Given the description of an element on the screen output the (x, y) to click on. 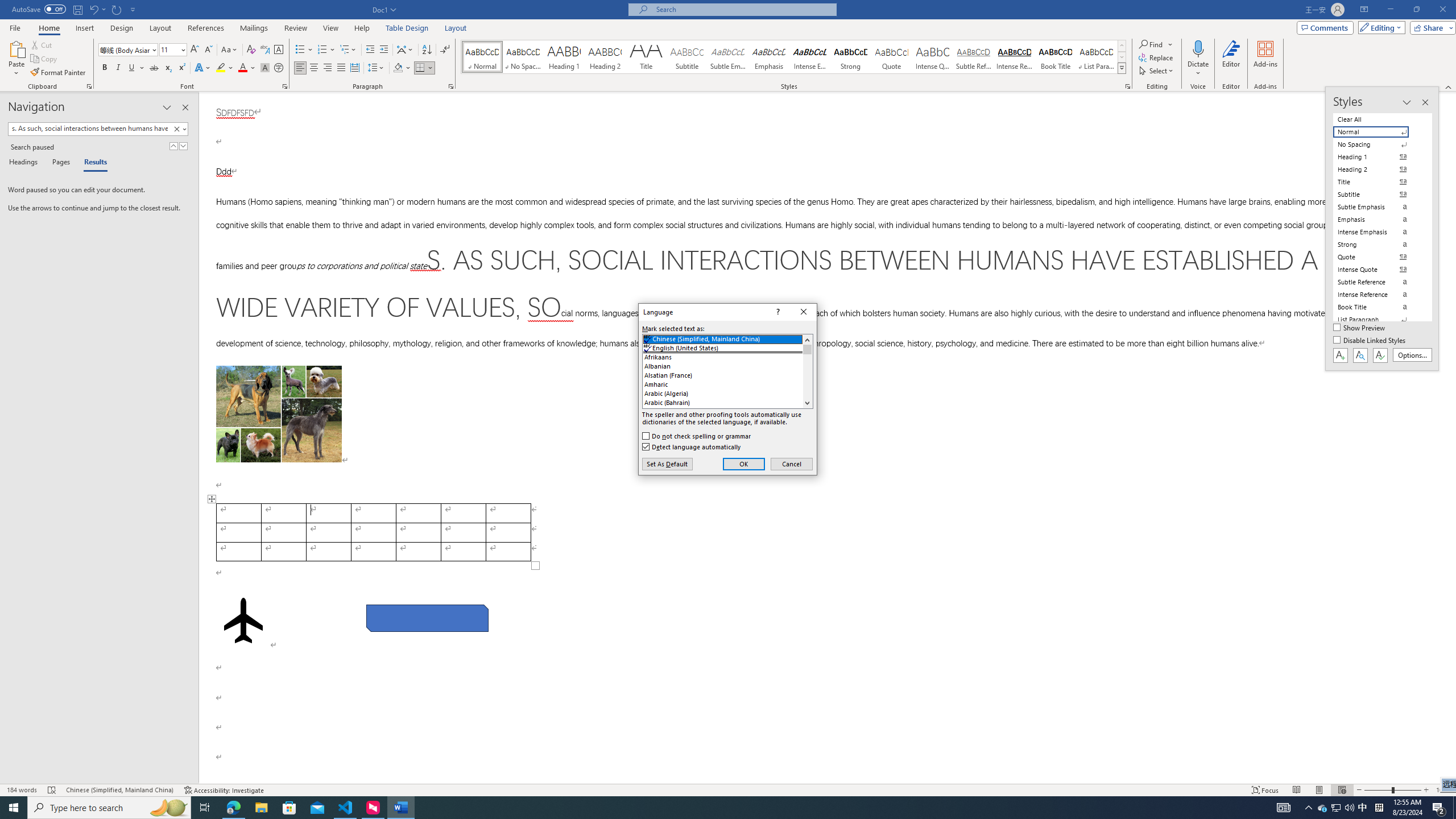
Line down (807, 402)
Context help (777, 312)
Rectangle: Diagonal Corners Snipped 2 (427, 618)
Tray Input Indicator - Chinese (Simplified, China) (1378, 807)
Do not check spelling or grammar (697, 435)
